Given the description of an element on the screen output the (x, y) to click on. 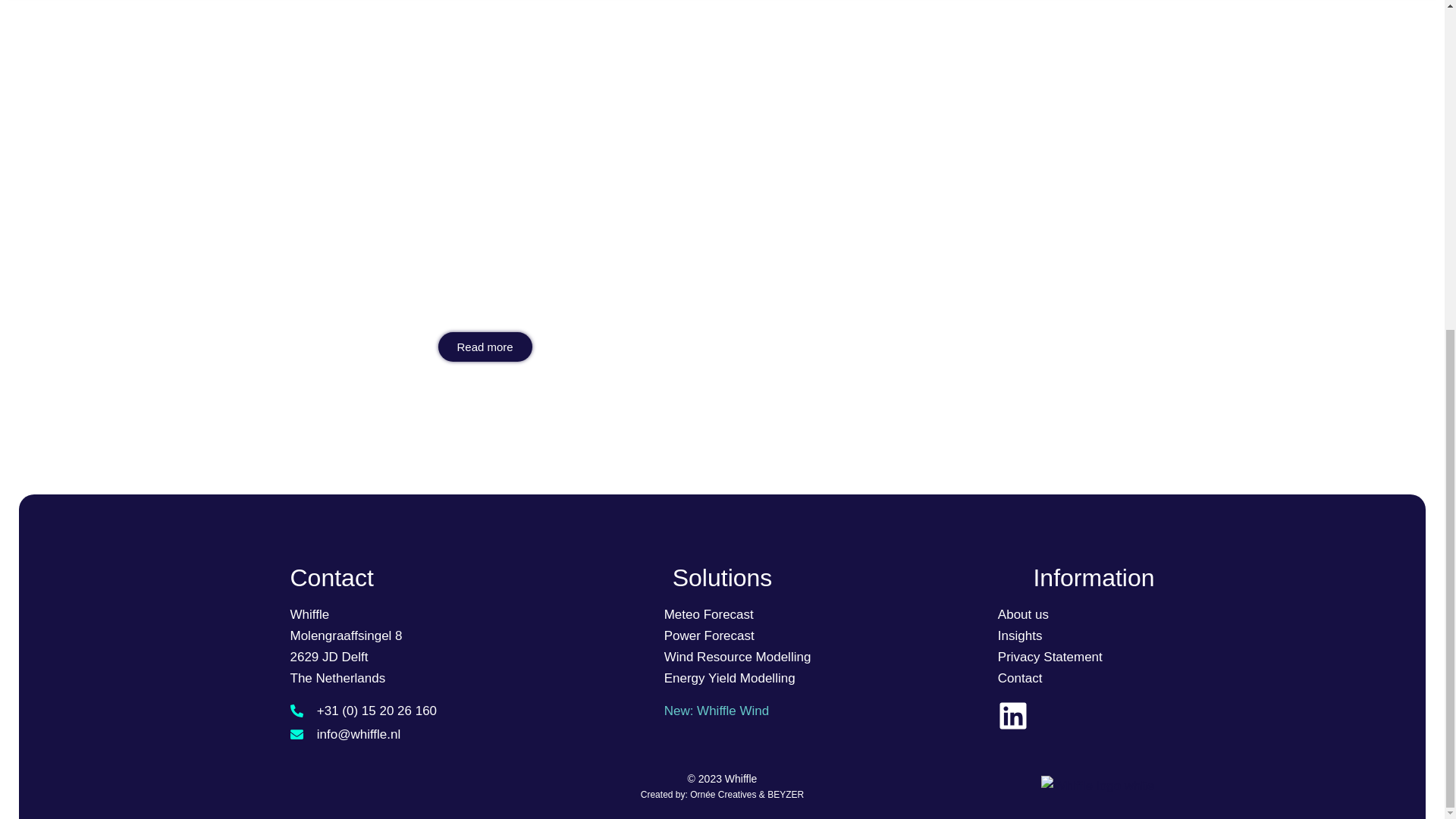
Wind Resource Modelling (736, 657)
Energy Yield Modelling (728, 677)
Meteo Forecast (708, 614)
Read more (485, 346)
About us (1022, 614)
Contact (1019, 677)
Privacy Statement (1049, 657)
Power Forecast (708, 635)
Insights (1019, 635)
New: Whiffle Wind (716, 710)
